Given the description of an element on the screen output the (x, y) to click on. 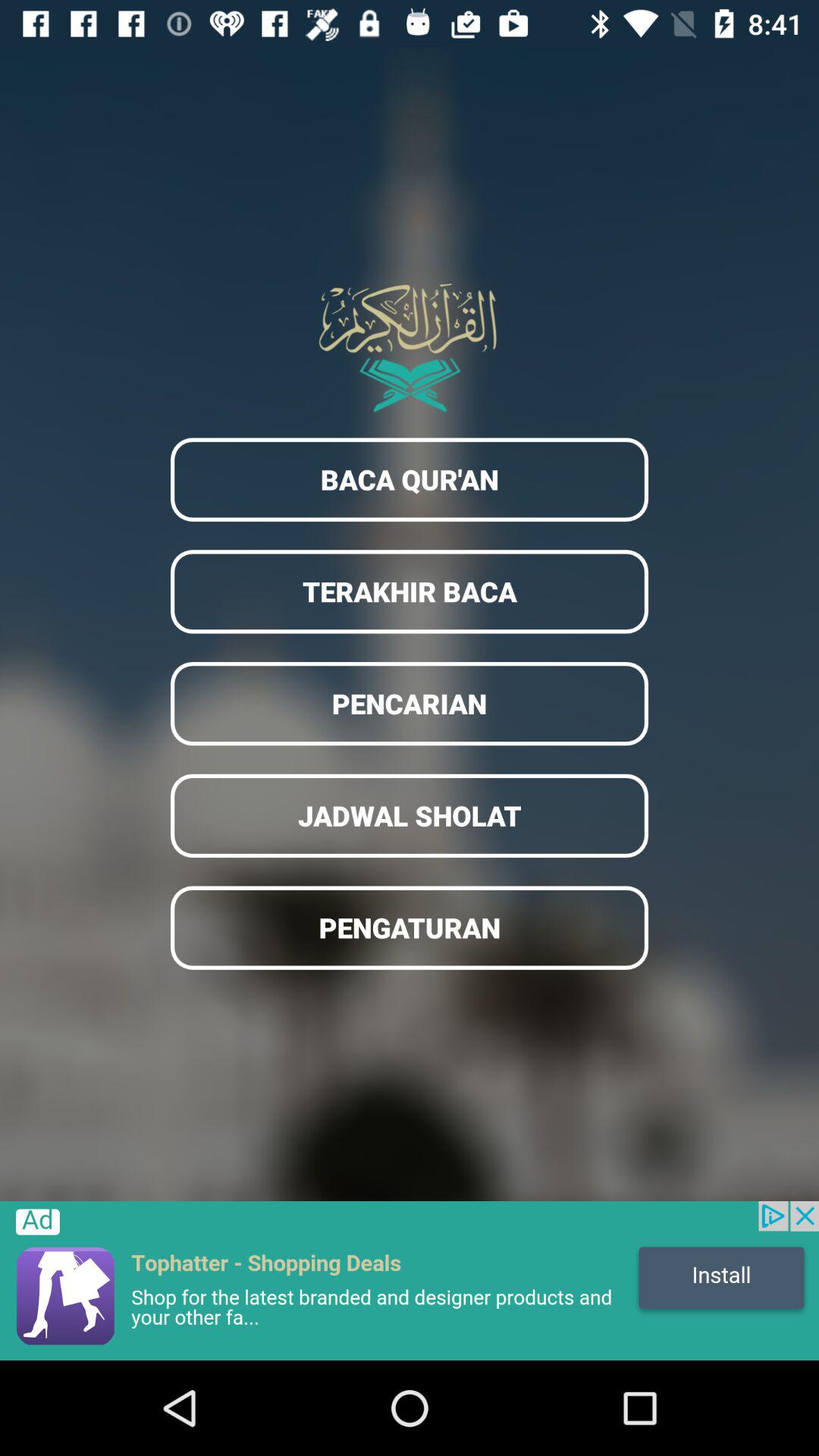
go to advertisement website (409, 1280)
